Given the description of an element on the screen output the (x, y) to click on. 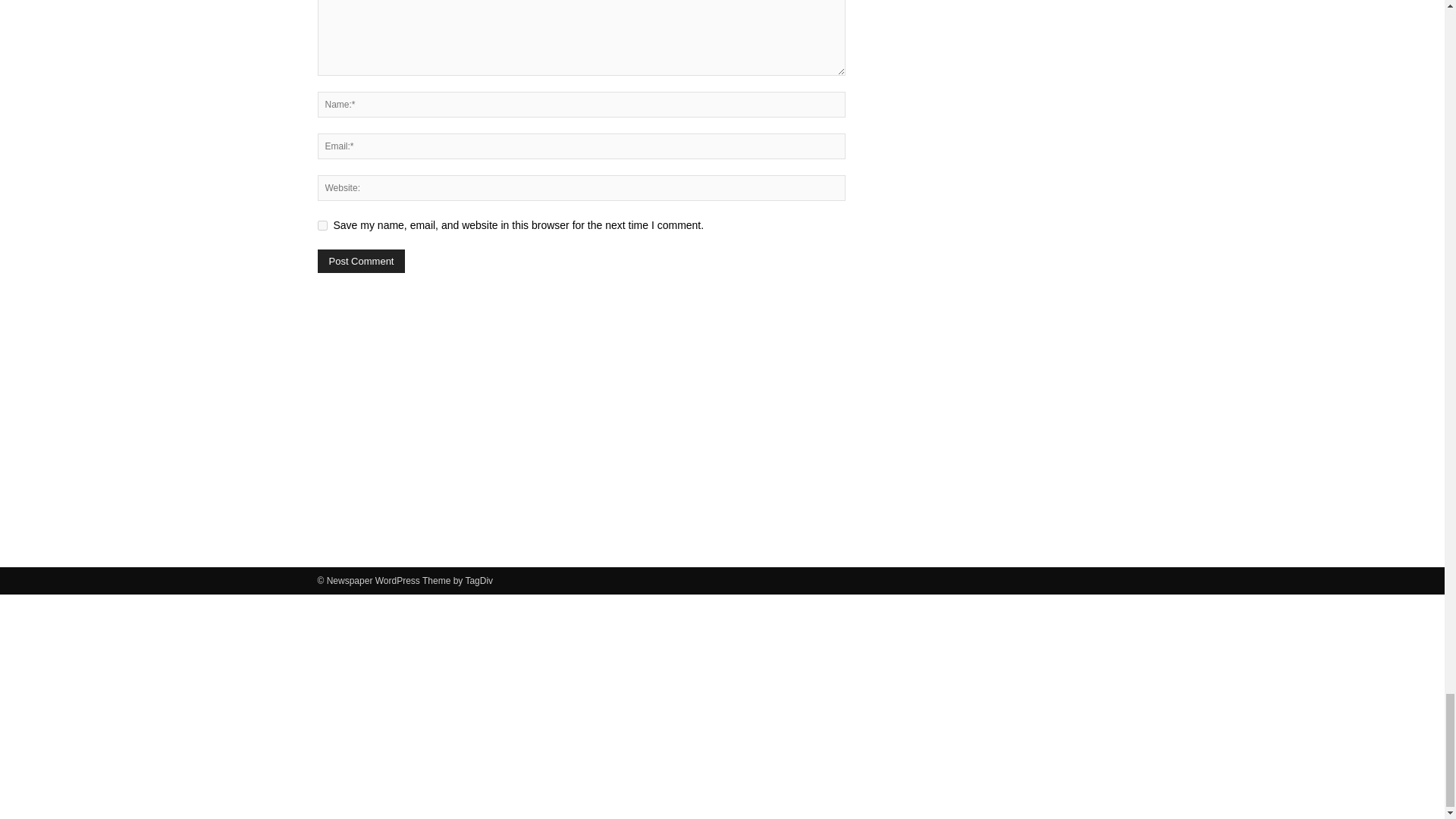
yes (321, 225)
Post Comment (360, 260)
